Given the description of an element on the screen output the (x, y) to click on. 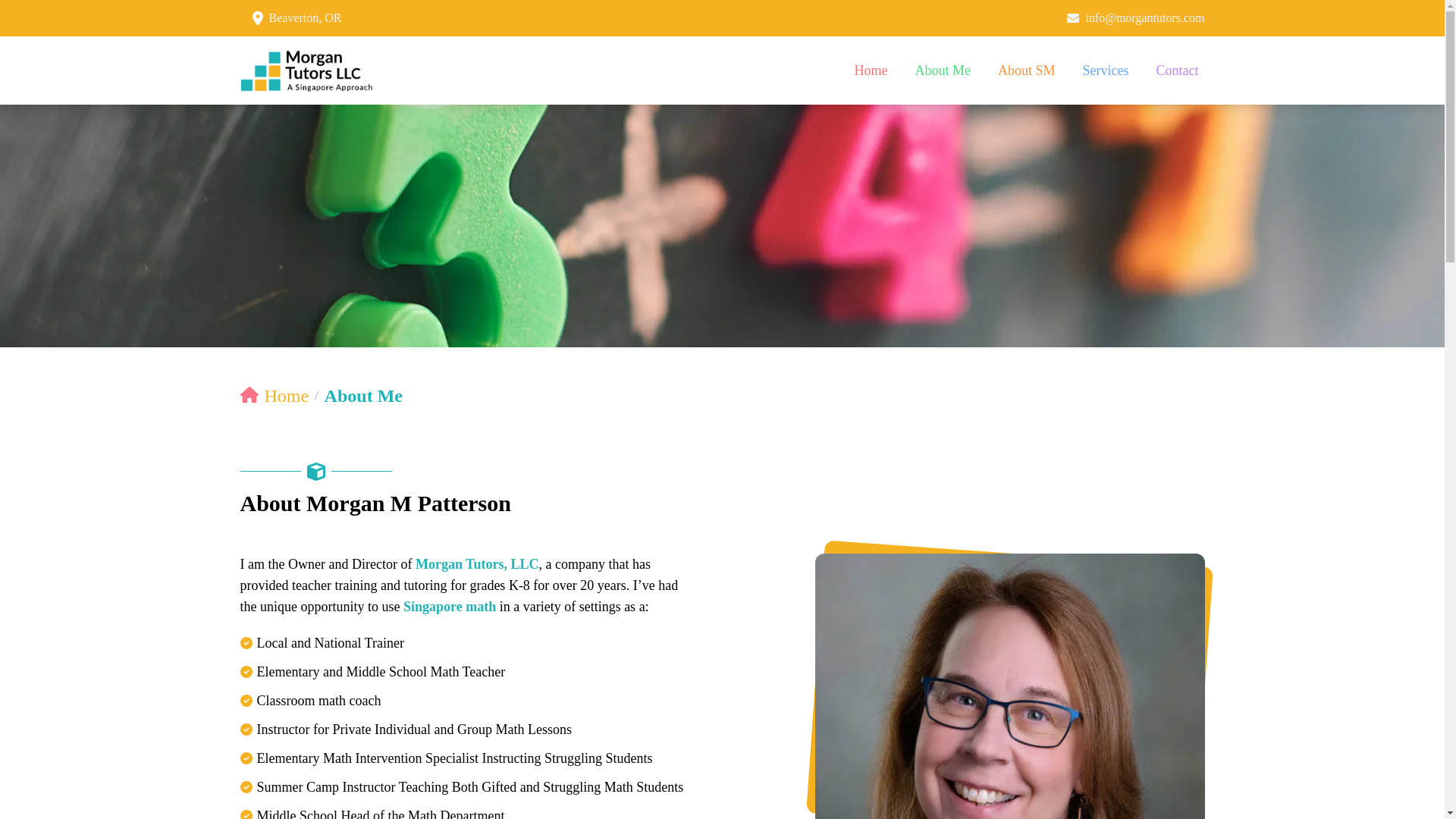
Home (870, 70)
Services (1106, 70)
About SM (1026, 70)
Contact (1177, 70)
About Me (942, 70)
Home (274, 395)
